Given the description of an element on the screen output the (x, y) to click on. 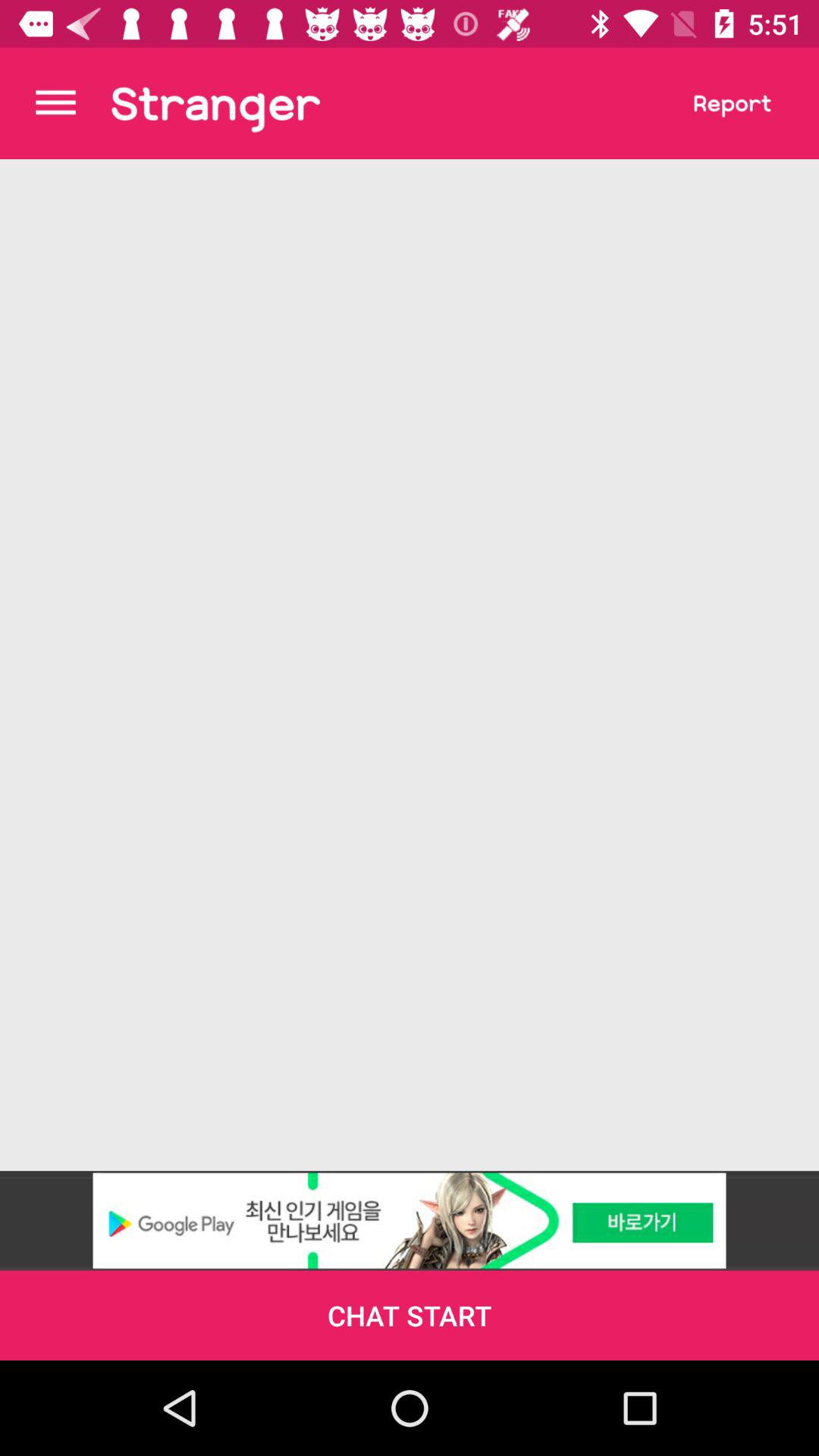
go to stranger (215, 103)
